Given the description of an element on the screen output the (x, y) to click on. 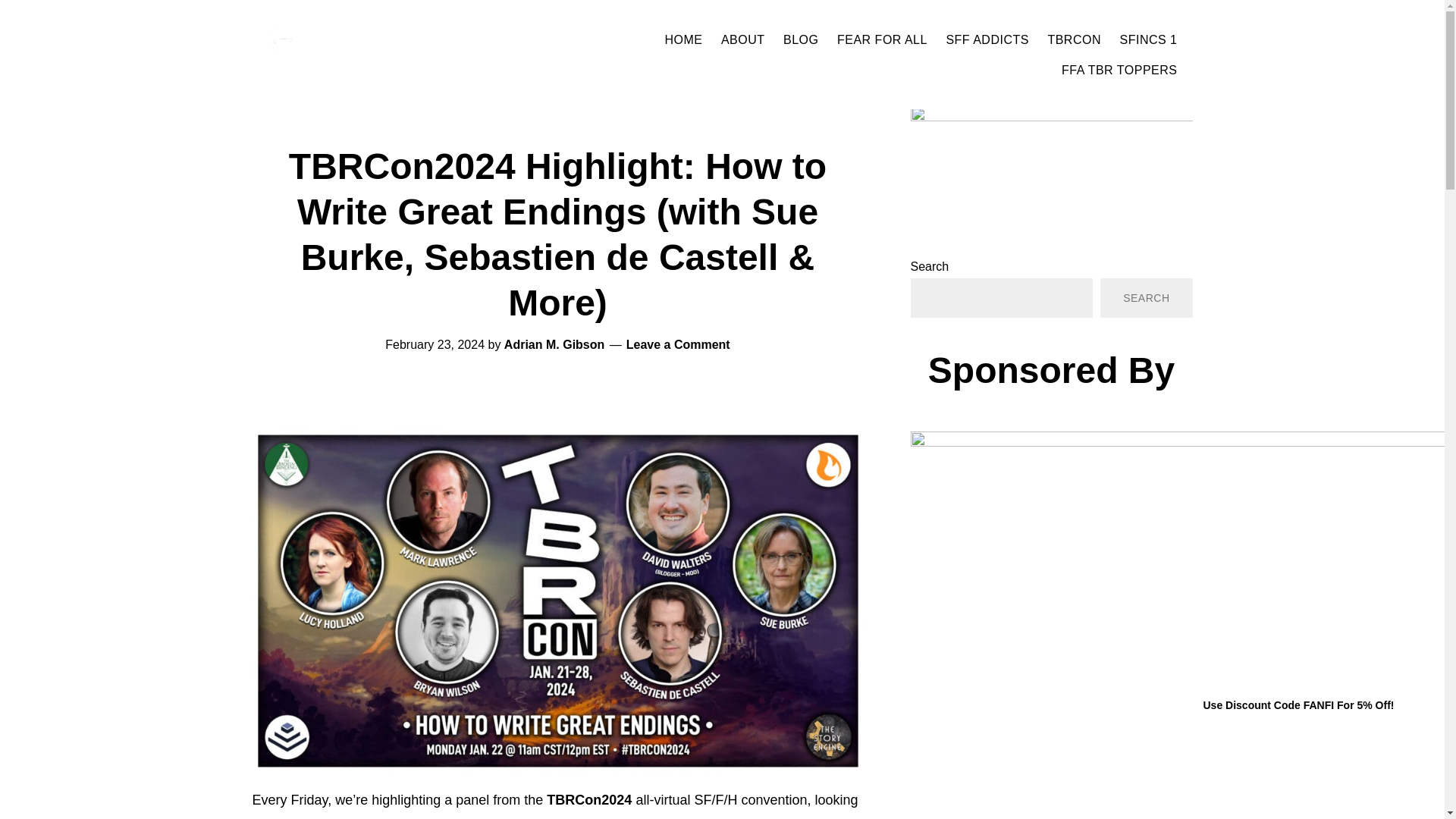
HOME (683, 39)
ABOUT (743, 39)
BLOG (800, 39)
